Given the description of an element on the screen output the (x, y) to click on. 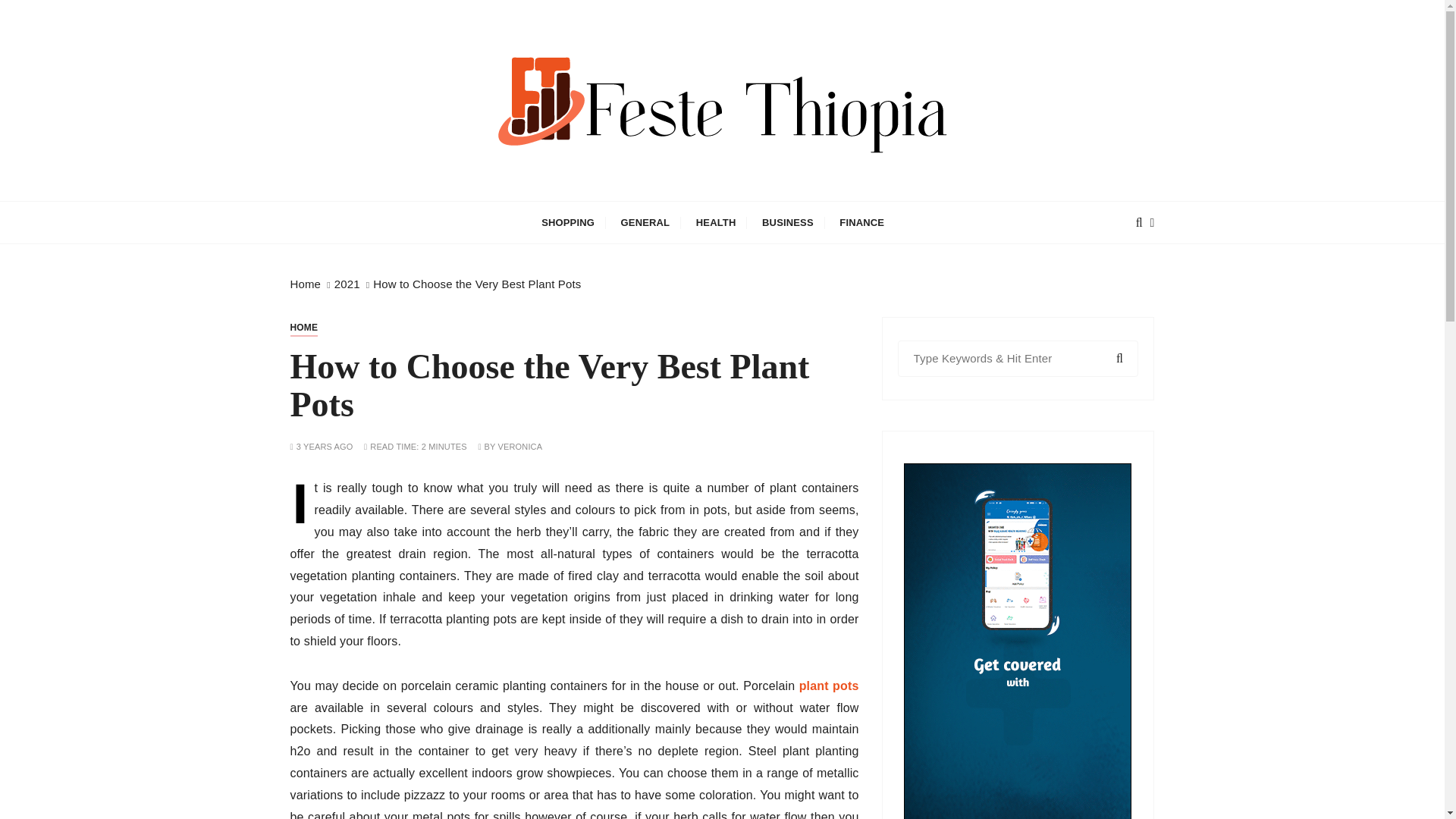
GENERAL (645, 222)
How to Choose the Very Best Plant Pots (476, 283)
BUSINESS (788, 222)
SHOPPING (567, 222)
2021 (346, 283)
Artificial Satellite (440, 211)
plant pots (829, 685)
Home (304, 283)
HEALTH (716, 222)
FINANCE (861, 222)
VERONICA (520, 447)
HOME (303, 327)
